Given the description of an element on the screen output the (x, y) to click on. 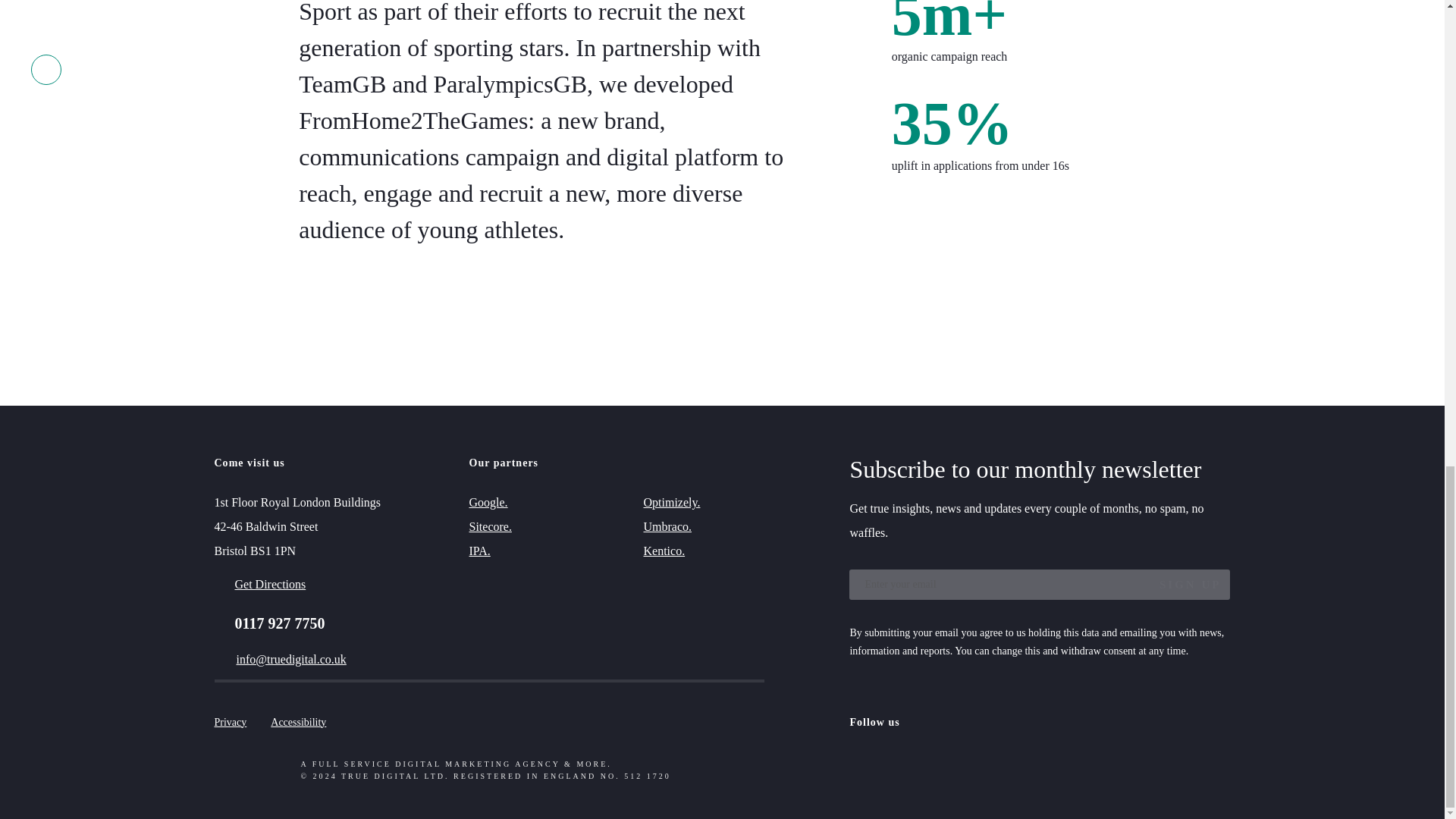
Please enter a valid email addresss (1039, 584)
Google. (487, 502)
IPA. (478, 550)
Umbraco. (667, 526)
0117 927 7750 (269, 623)
Get Directions (259, 584)
Kentico. (663, 550)
Optimizely. (671, 502)
Accessibility (298, 722)
SIGN UP (1185, 584)
Privacy (230, 722)
Sitecore. (489, 526)
